Given the description of an element on the screen output the (x, y) to click on. 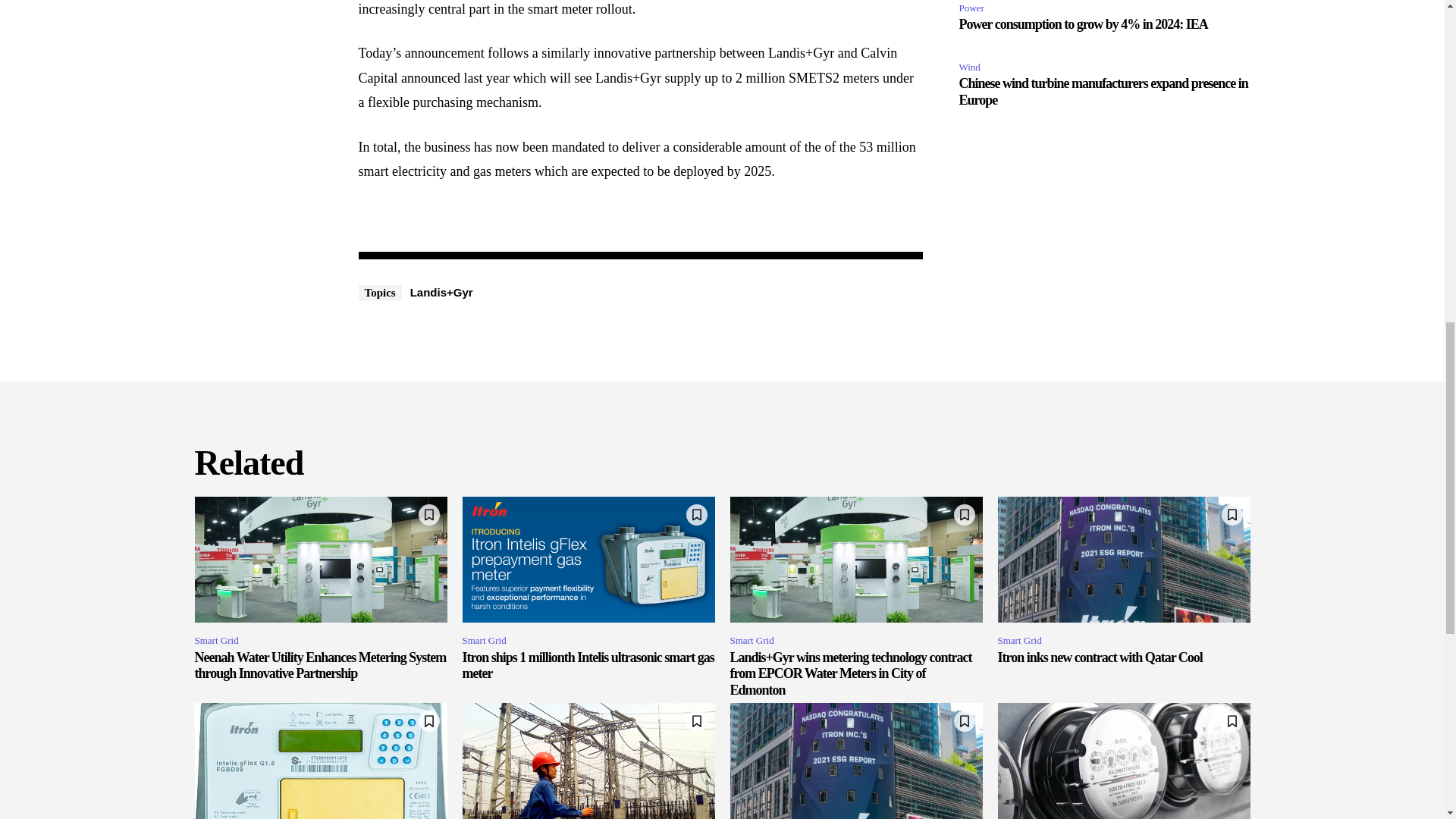
Chinese wind turbine manufacturers expand presence in Europe (1102, 91)
Power (973, 8)
Wind (971, 67)
